Given the description of an element on the screen output the (x, y) to click on. 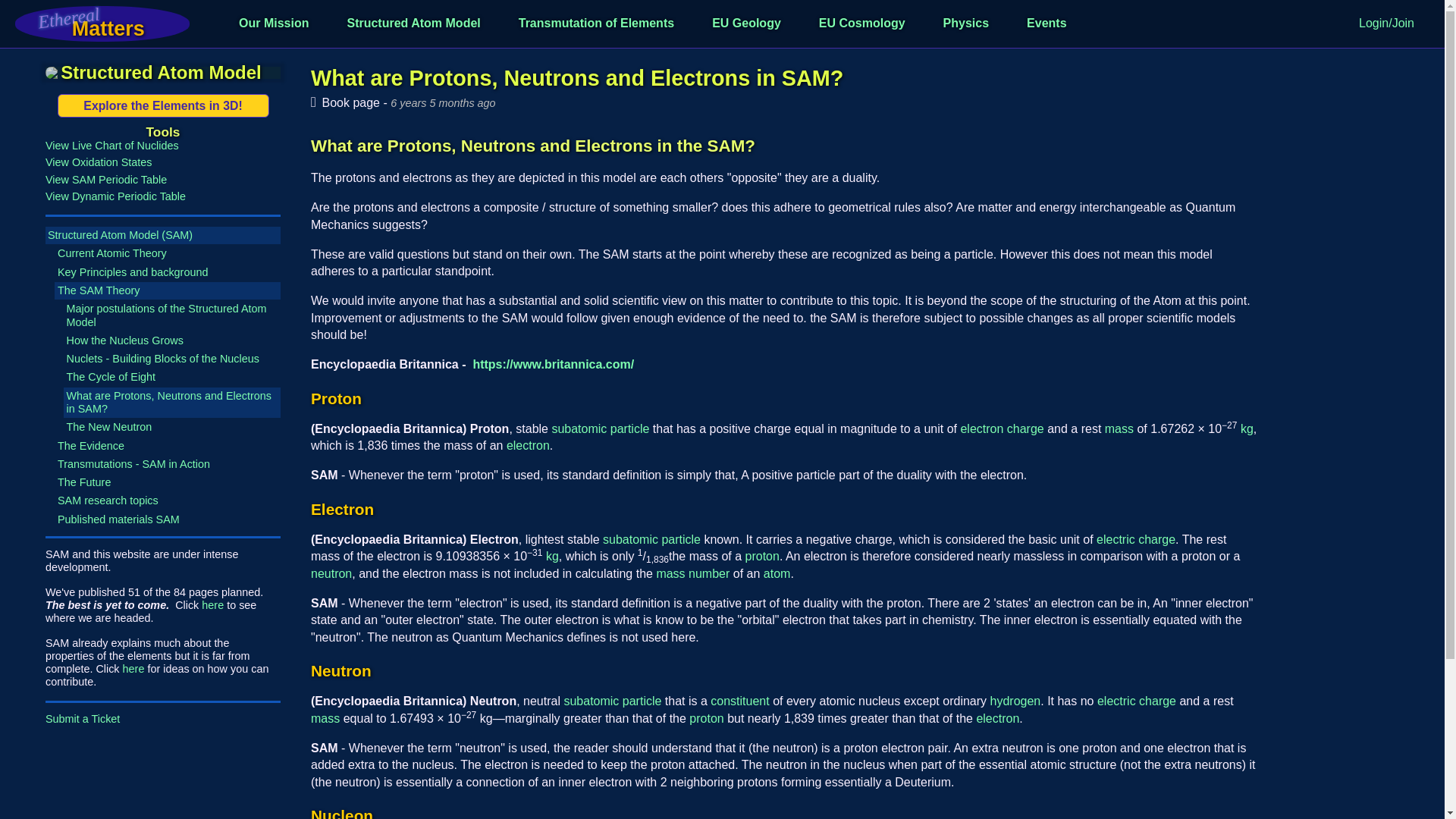
EU Cosmology (861, 22)
Nuclets - Building Blocks of the Nucleus (172, 358)
The Cycle of Eight (172, 376)
Explore the Elements in 3D! (163, 105)
How the Nucleus Grows (172, 340)
Major postulations of the Structured Atom Model (172, 315)
Structured Atom Model (413, 22)
Key Principles and background (168, 272)
